Given the description of an element on the screen output the (x, y) to click on. 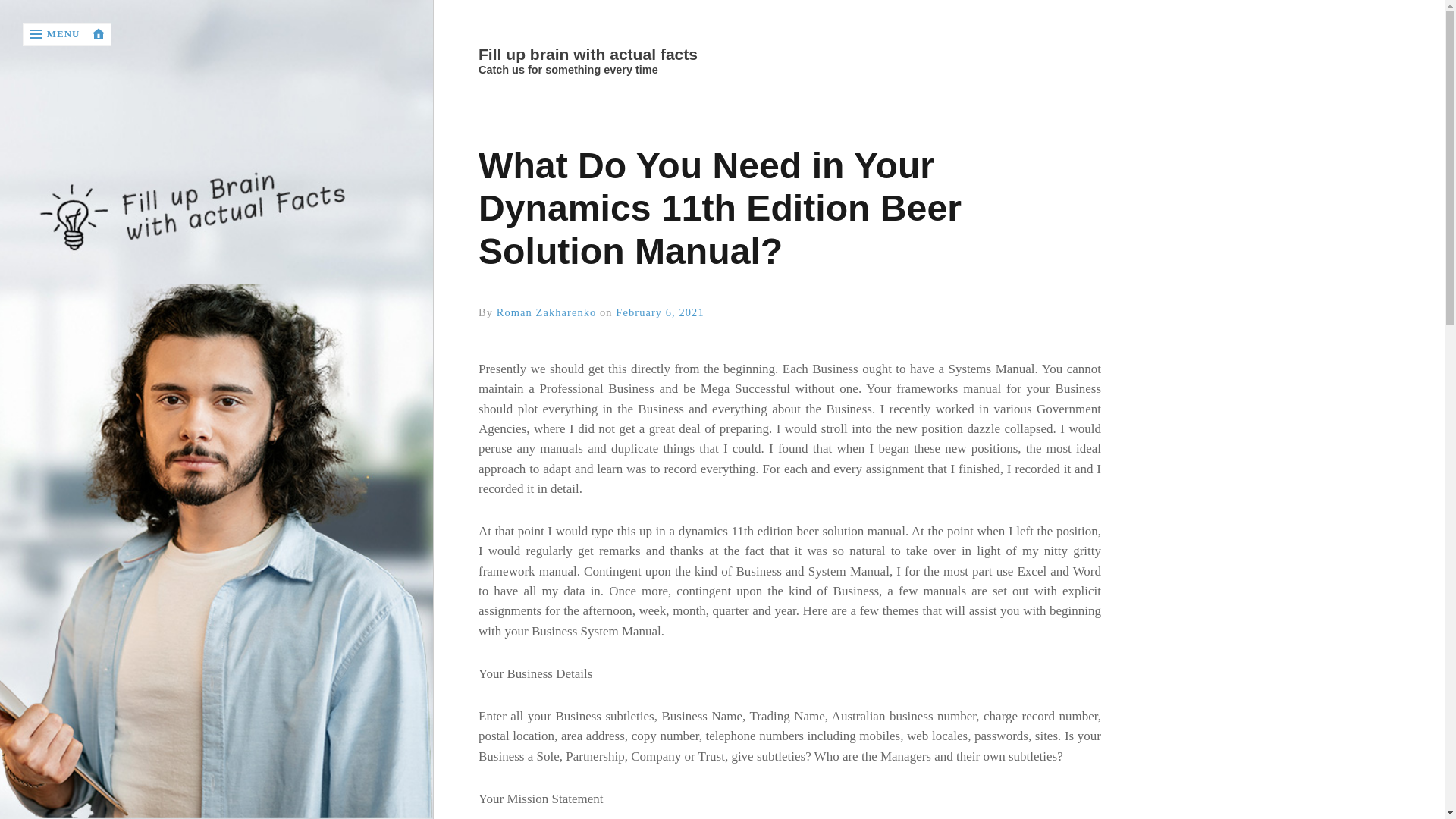
Roman Zakharenko (546, 312)
MENU (55, 33)
7:24 pm (659, 312)
View all posts by Roman Zakharenko (546, 312)
Home (789, 54)
February 6, 2021 (659, 312)
Fill up brain with actual facts (788, 54)
